Given the description of an element on the screen output the (x, y) to click on. 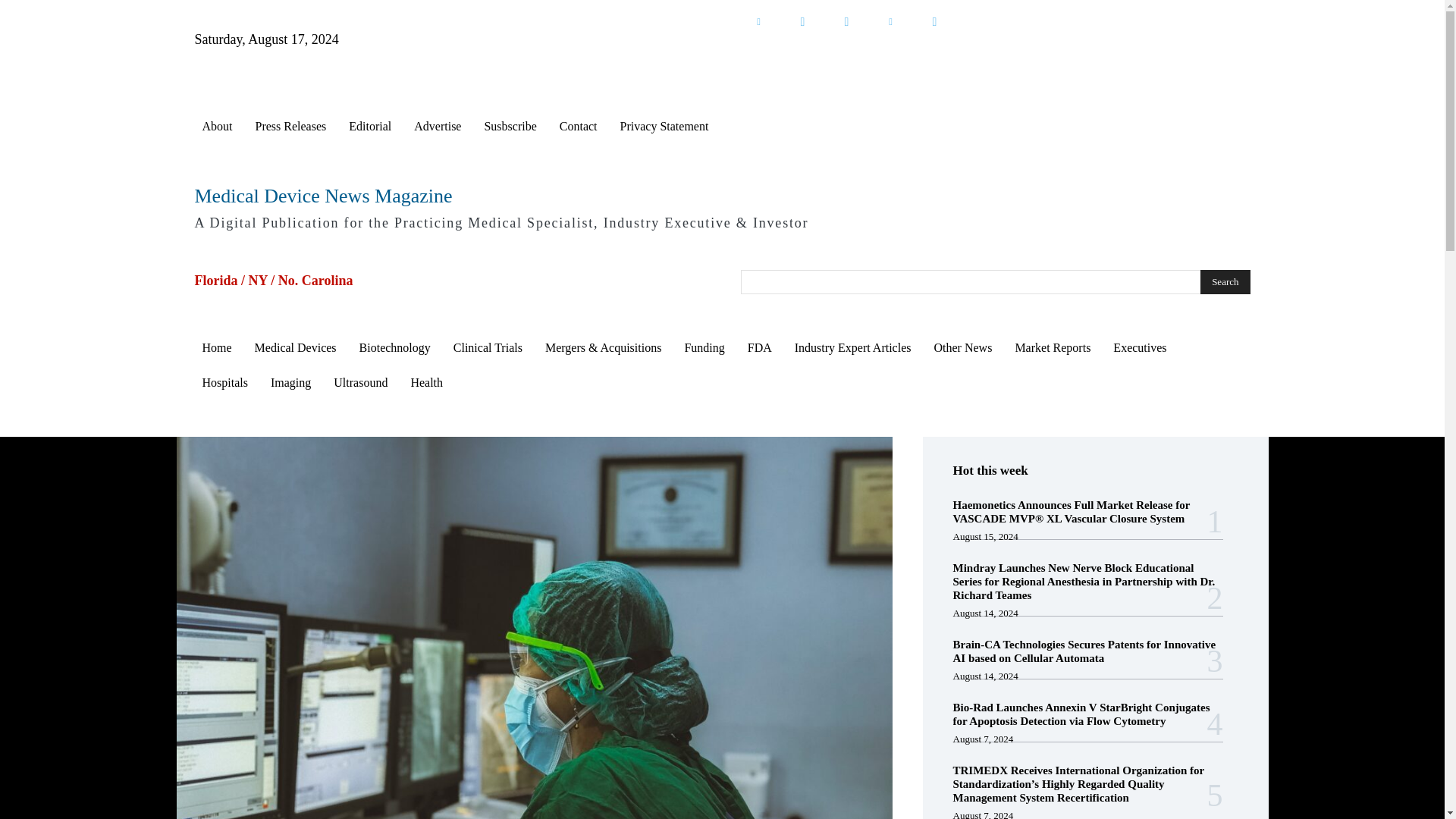
LinkedIn (757, 22)
Twitter (802, 22)
Clinical Trials (487, 347)
Biotechnology (395, 347)
Contact (578, 126)
Advertise (437, 126)
Instagram (933, 22)
Press Releases (290, 126)
Susbscribe (509, 126)
